Given the description of an element on the screen output the (x, y) to click on. 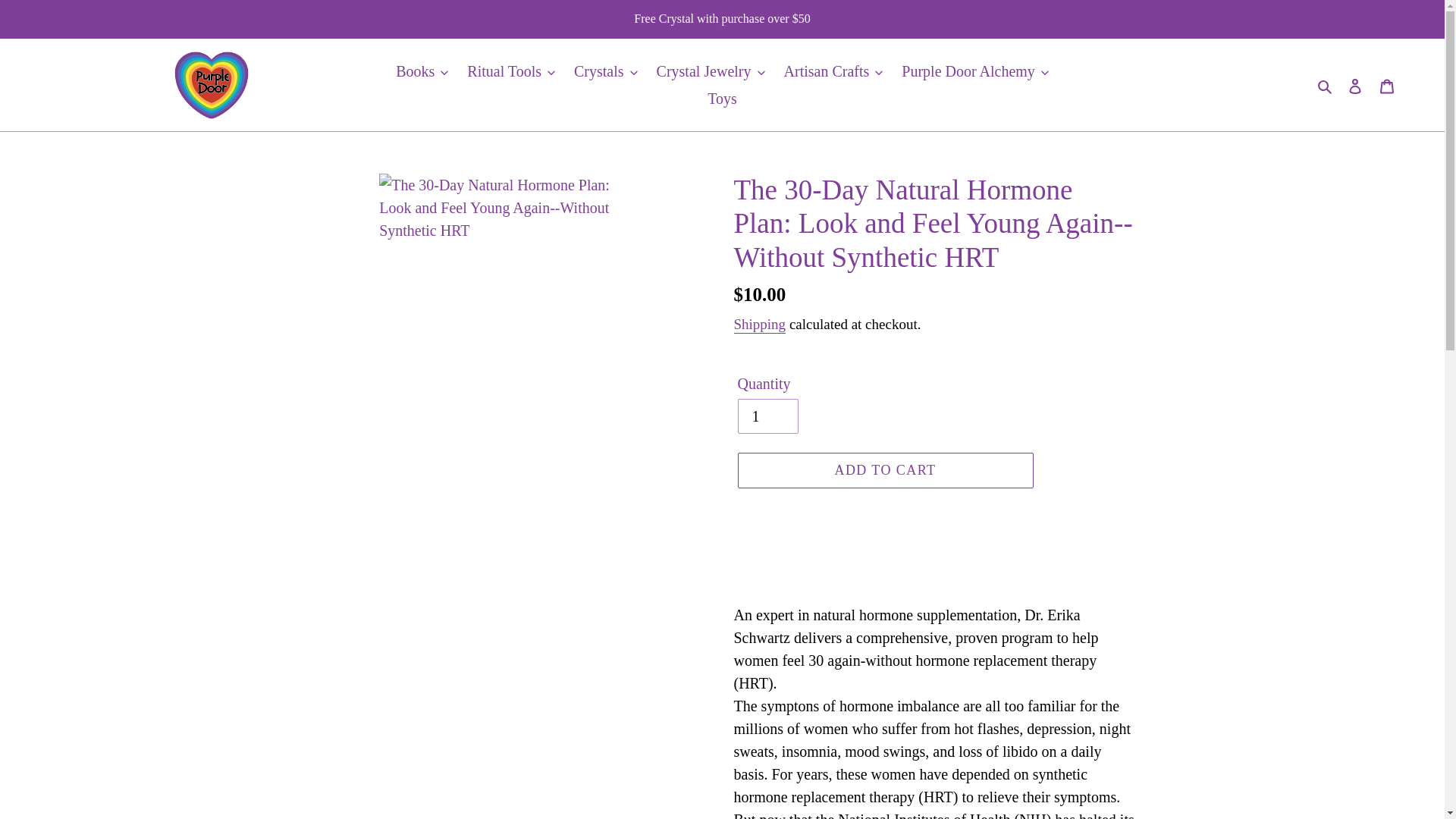
Artisan Crafts (833, 71)
Crystal Jewelry (711, 71)
Ritual Tools (511, 71)
Books (421, 71)
1 (766, 416)
Purple Door Alchemy (975, 71)
Crystals (605, 71)
